Given the description of an element on the screen output the (x, y) to click on. 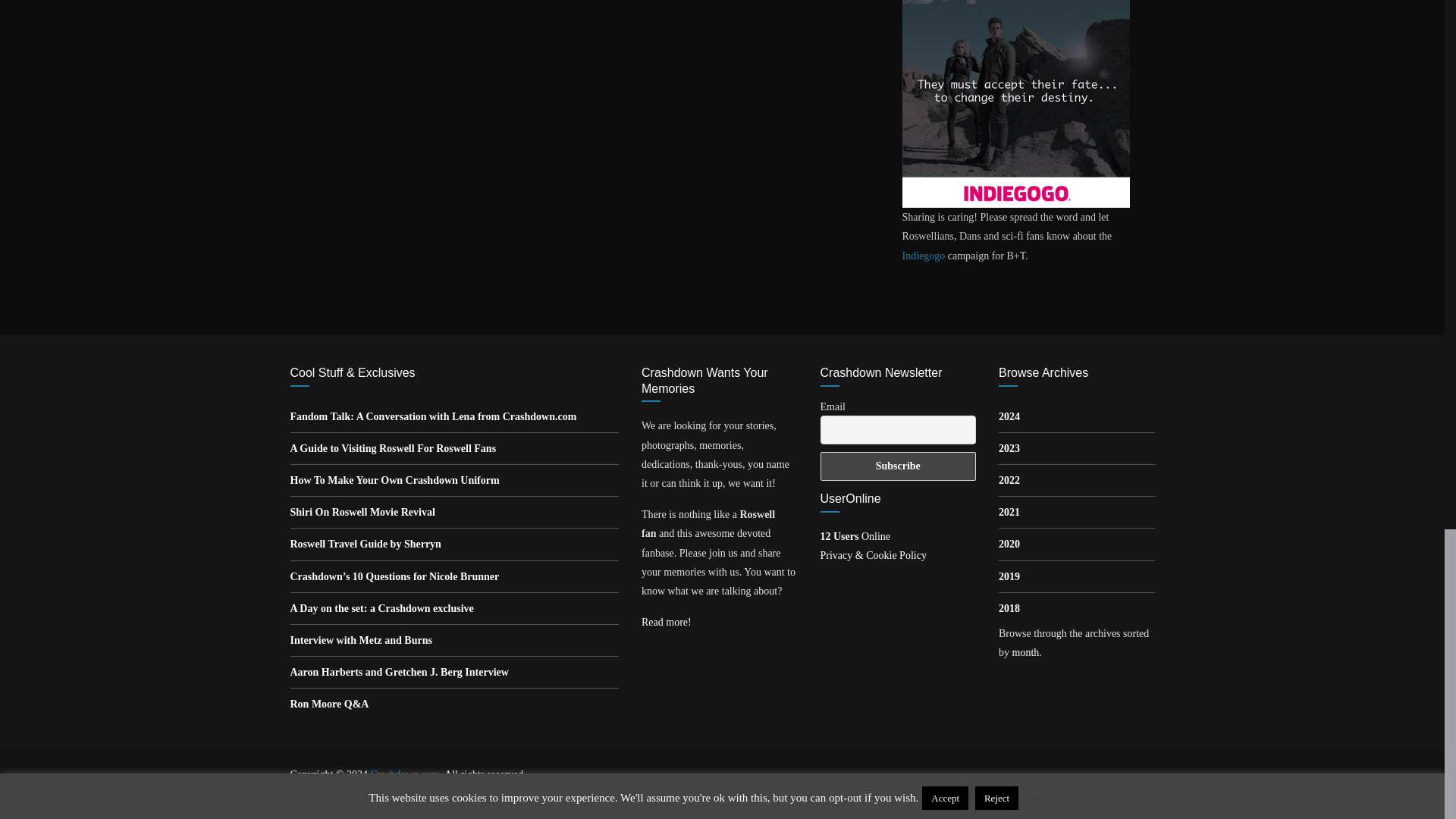
12 Users (856, 536)
Opens in a new window (432, 416)
Crashdown.com (404, 774)
Subscribe (898, 466)
